Given the description of an element on the screen output the (x, y) to click on. 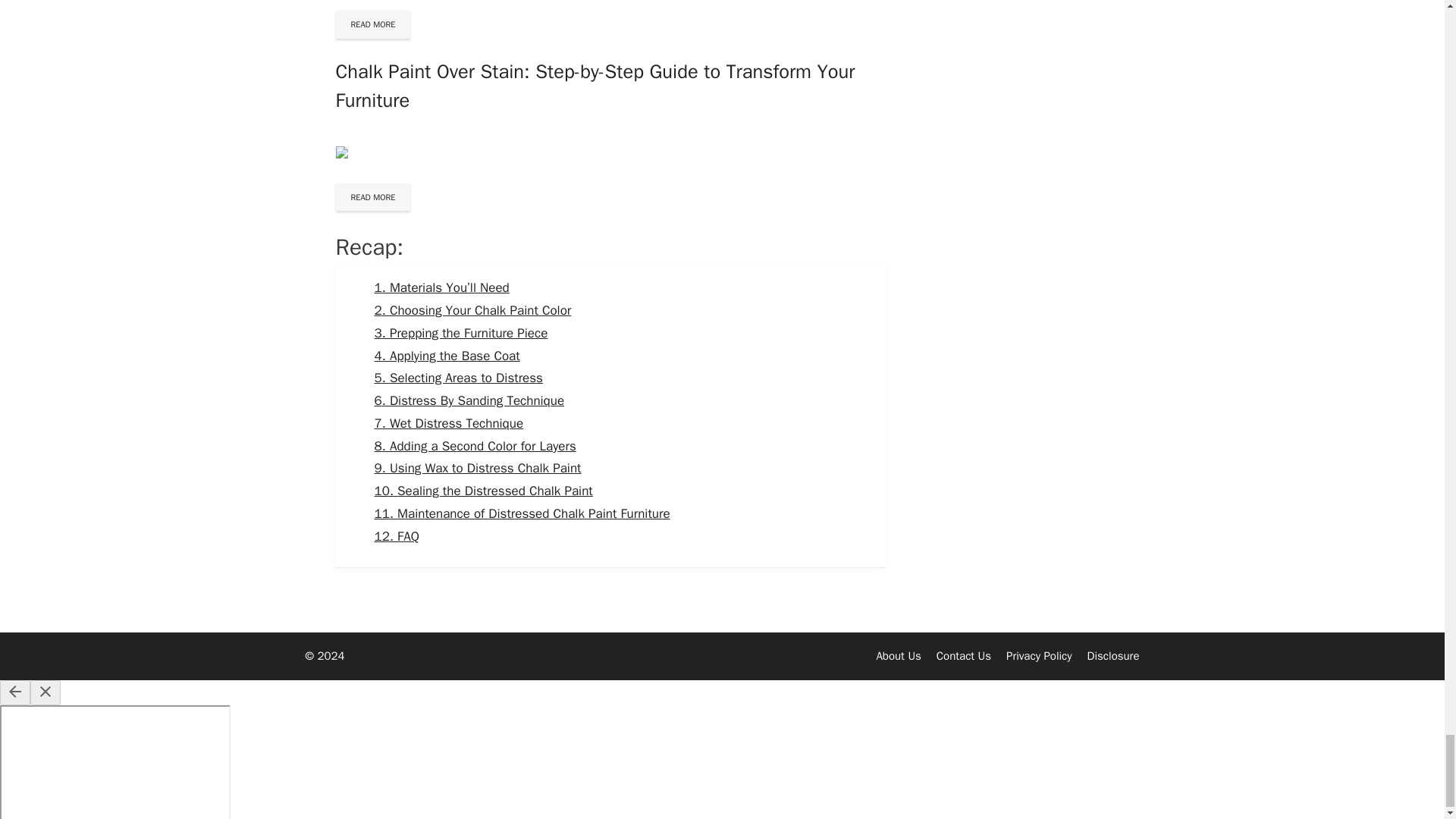
Adding a Second Color for Layers (475, 446)
Wet Distress Technique (449, 423)
READ MORE (372, 197)
Maintenance of Distressed Chalk Paint Furniture (521, 513)
Choosing Your Chalk Paint Color (473, 310)
Using Wax to Distress Chalk Paint (477, 467)
Prepping the Furniture Piece (461, 333)
Distress By Sanding Technique (469, 400)
Applying the Base Coat (446, 355)
Selecting Areas to Distress (458, 377)
Sealing the Distressed Chalk Paint (483, 490)
FAQ (396, 536)
READ MORE (372, 24)
